Given the description of an element on the screen output the (x, y) to click on. 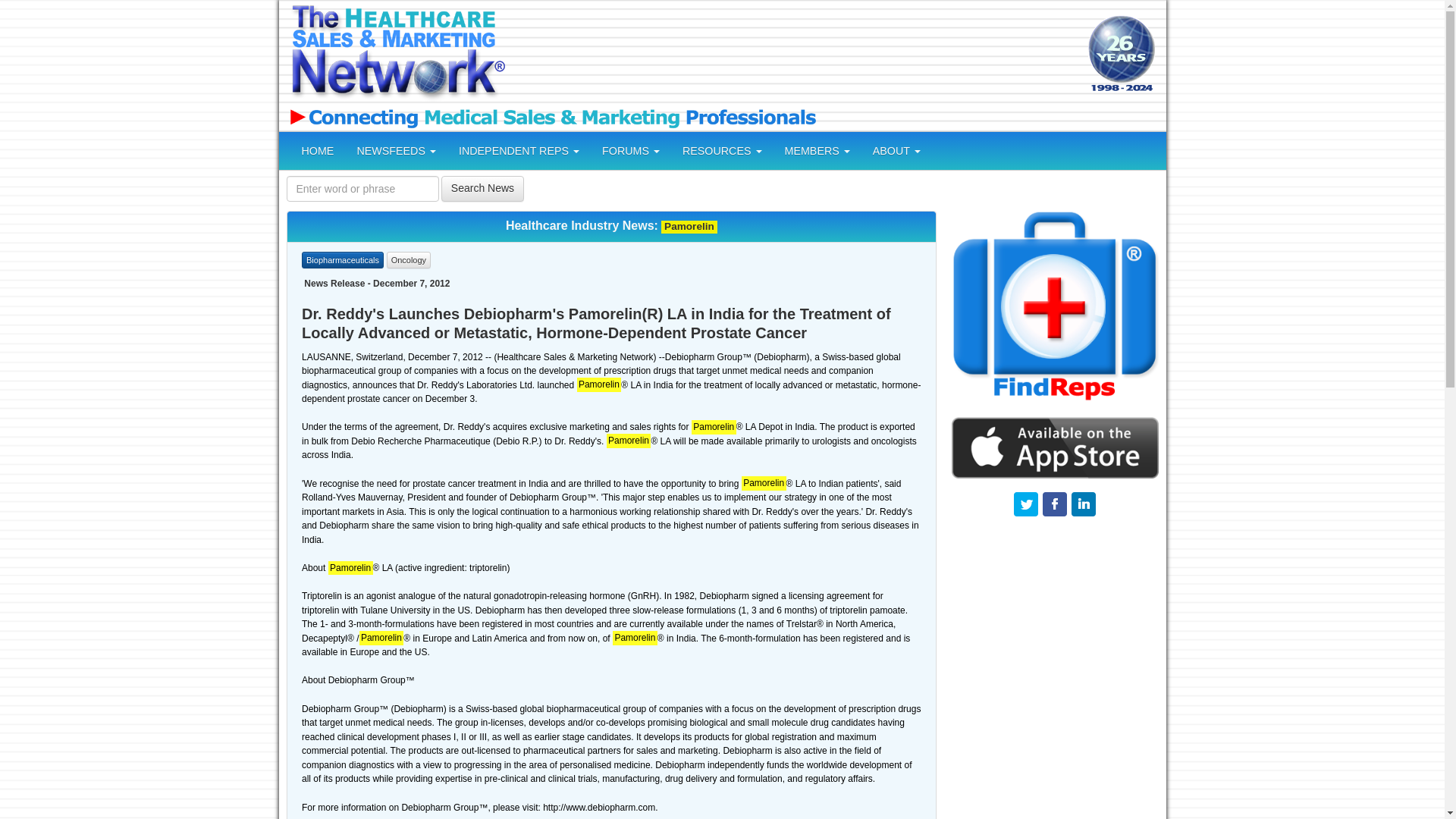
Search News (482, 188)
HOME (317, 150)
RESOURCES  (722, 150)
FORUMS  (631, 150)
INDEPENDENT REPS  (518, 150)
Advertisement (794, 55)
NEWSFEEDS  (395, 150)
